Given the description of an element on the screen output the (x, y) to click on. 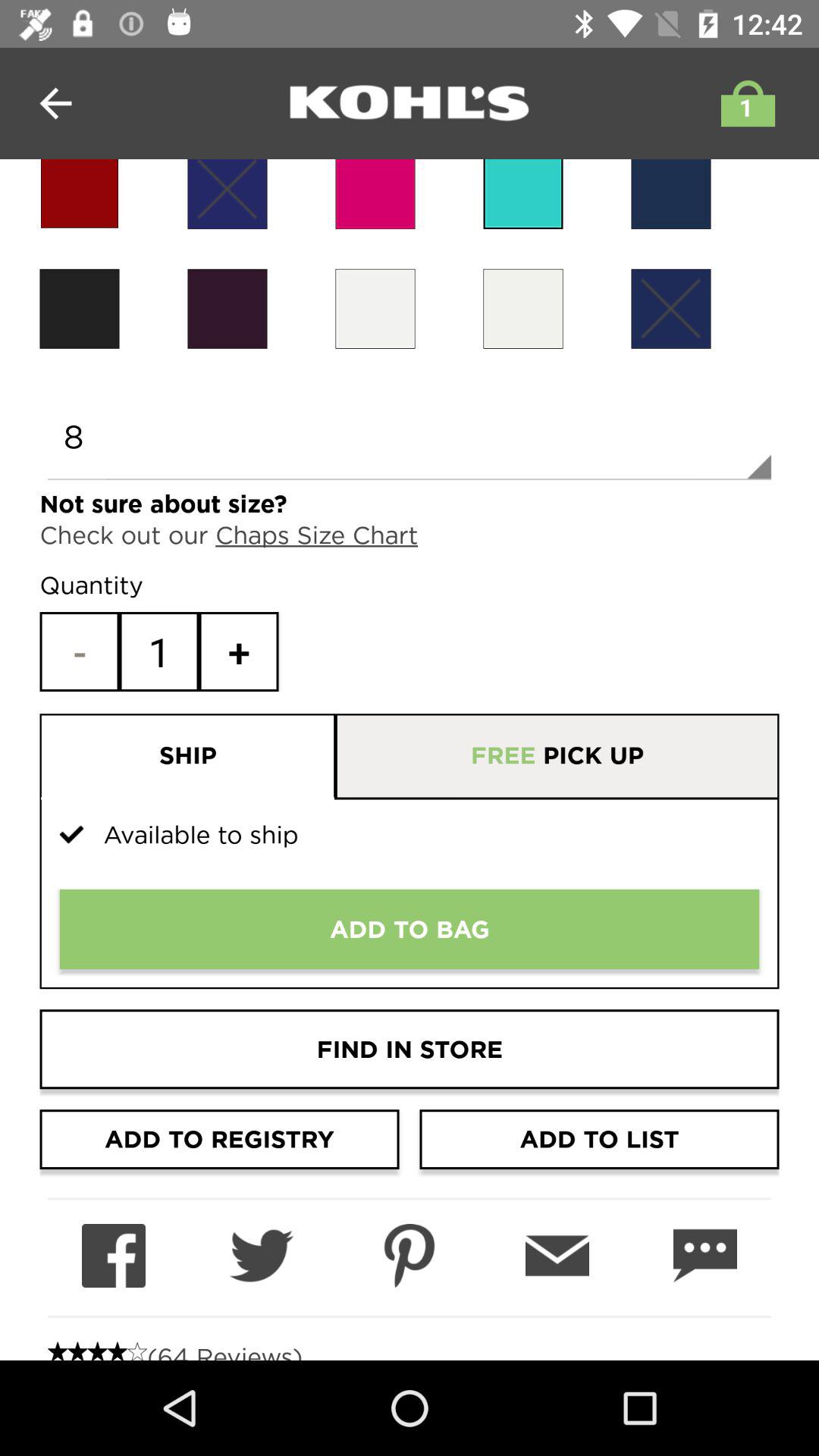
share on pinterest (409, 1255)
